Given the description of an element on the screen output the (x, y) to click on. 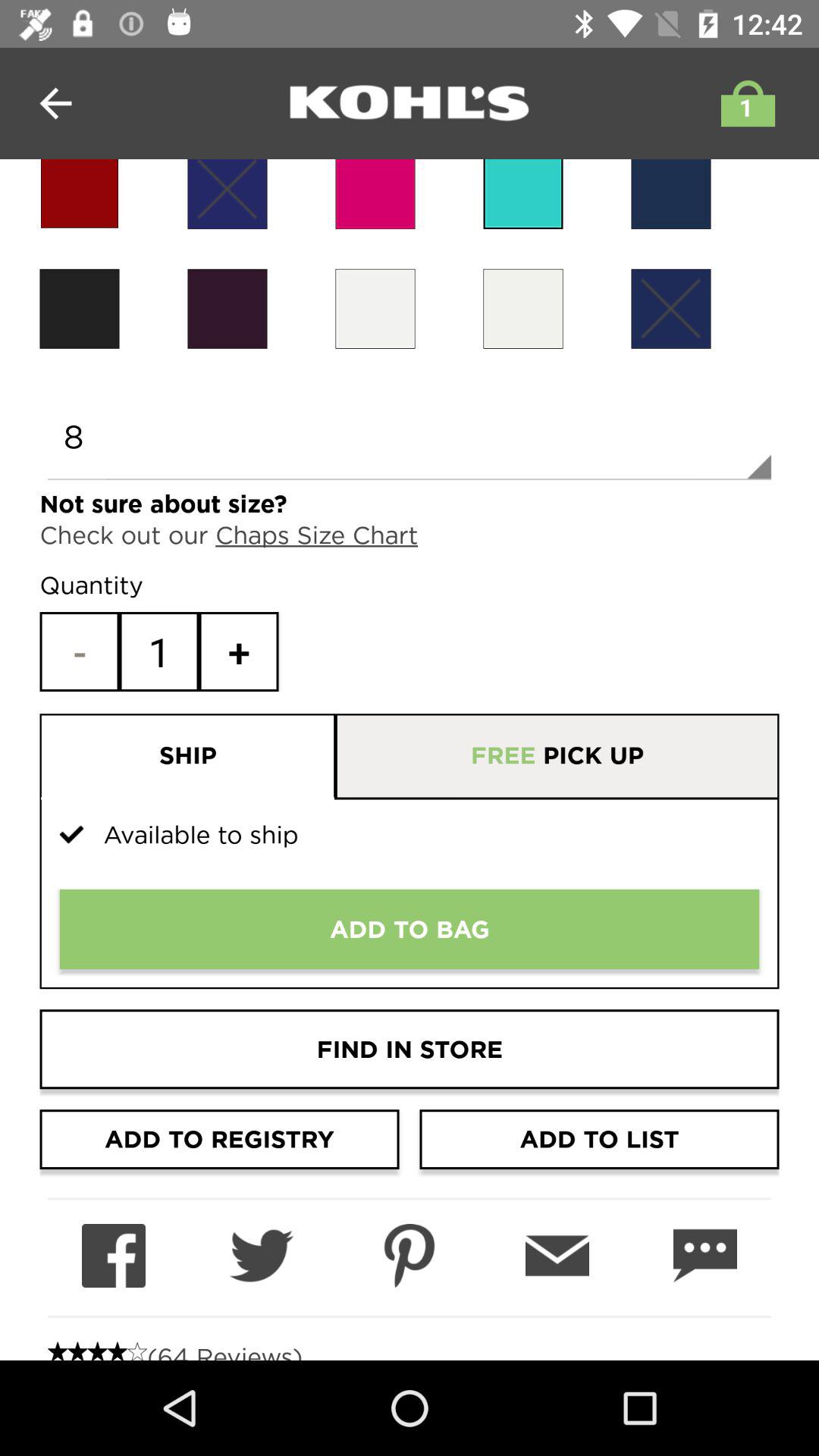
share on pinterest (409, 1255)
